Given the description of an element on the screen output the (x, y) to click on. 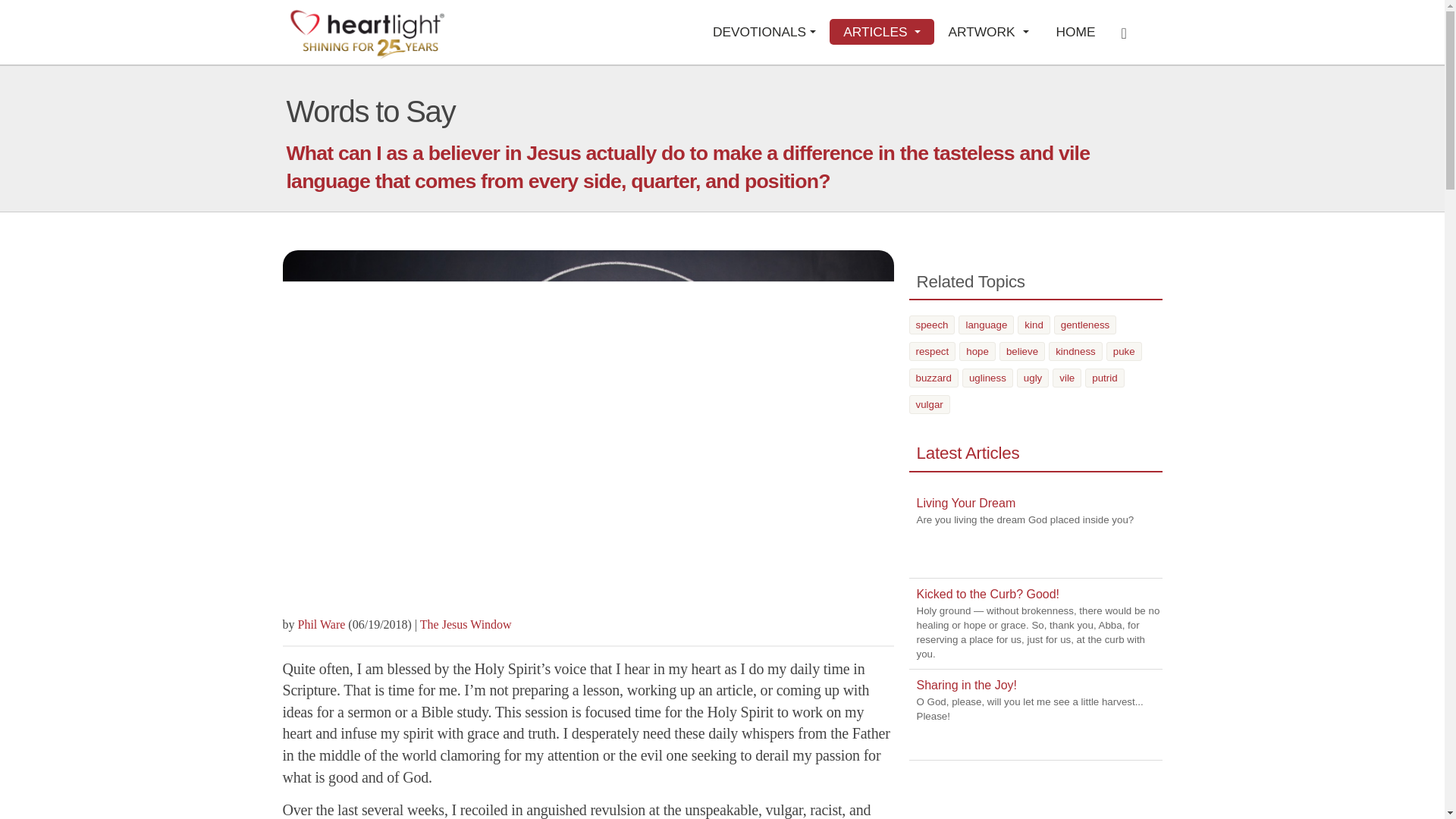
DEVOTIONALS (763, 31)
Heartlight - Home (367, 33)
Search Heartlight (1127, 32)
ARTWORK (988, 31)
ARTICLES (881, 31)
HOME (1075, 31)
